Given the description of an element on the screen output the (x, y) to click on. 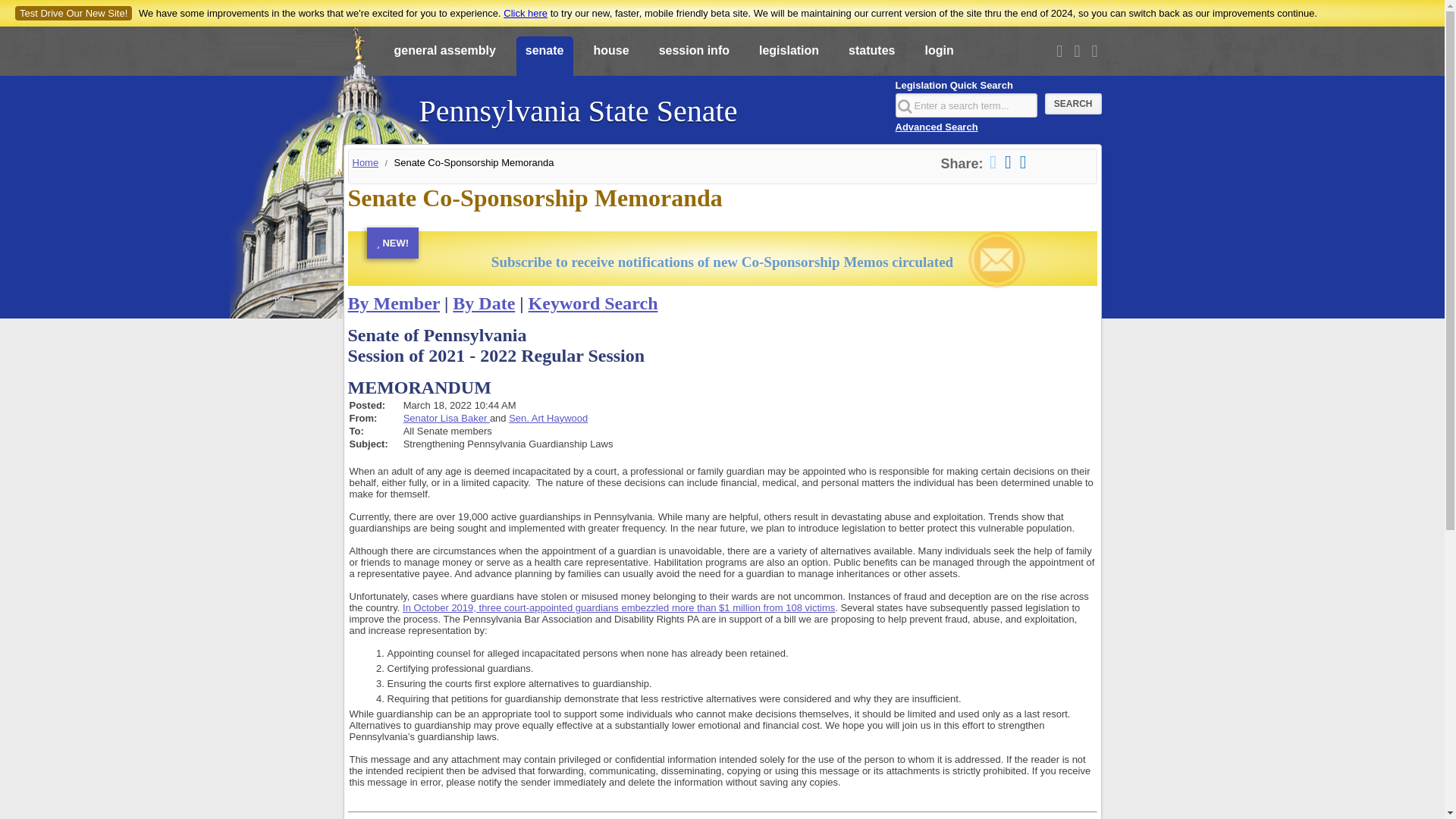
login (938, 57)
statutes (872, 57)
Pennsylvania State Senate (577, 102)
Advanced Search (935, 126)
session info (693, 57)
Search (1073, 103)
senate (544, 57)
house (610, 57)
Click here (525, 12)
Search (1073, 103)
general assembly (445, 57)
legislation (788, 57)
